Given the description of an element on the screen output the (x, y) to click on. 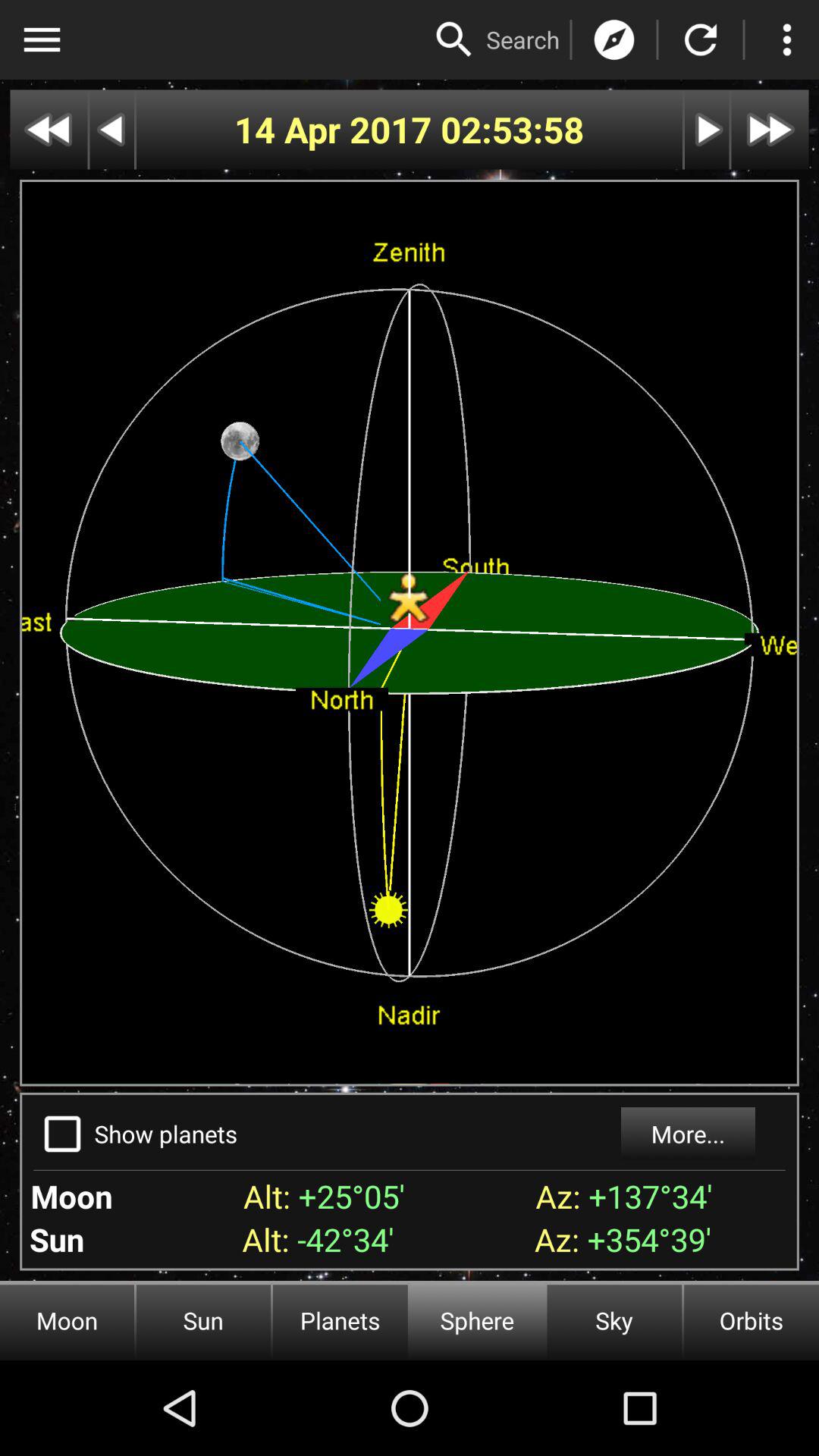
launch icon next to the 02:53:58 app (337, 129)
